Given the description of an element on the screen output the (x, y) to click on. 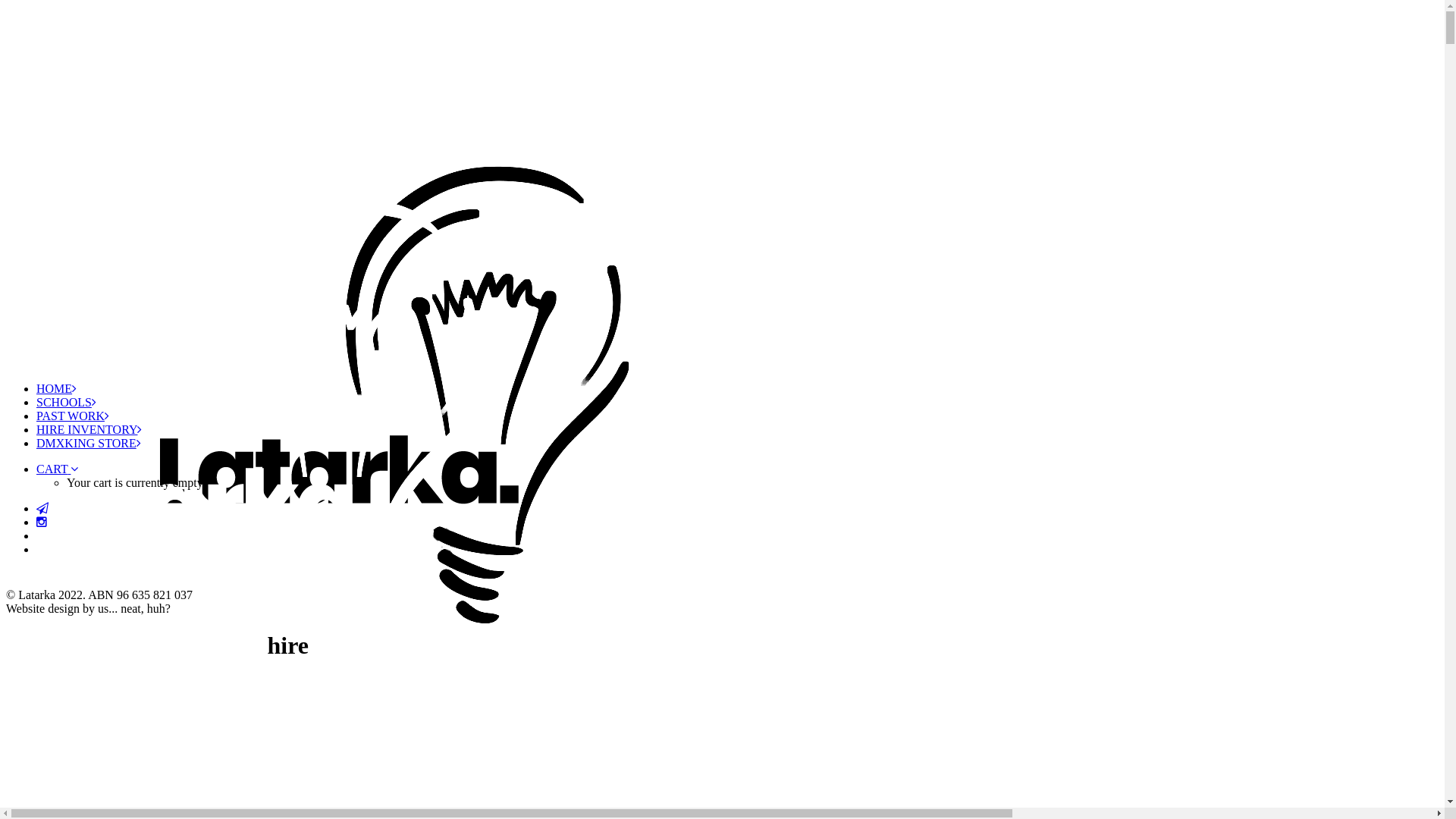
HOME Element type: text (56, 388)
DMXKING STORE Element type: text (88, 442)
PAST WORK Element type: text (72, 415)
HIRE INVENTORY Element type: text (88, 429)
CART Element type: text (57, 468)
SCHOOLS Element type: text (66, 401)
